Given the description of an element on the screen output the (x, y) to click on. 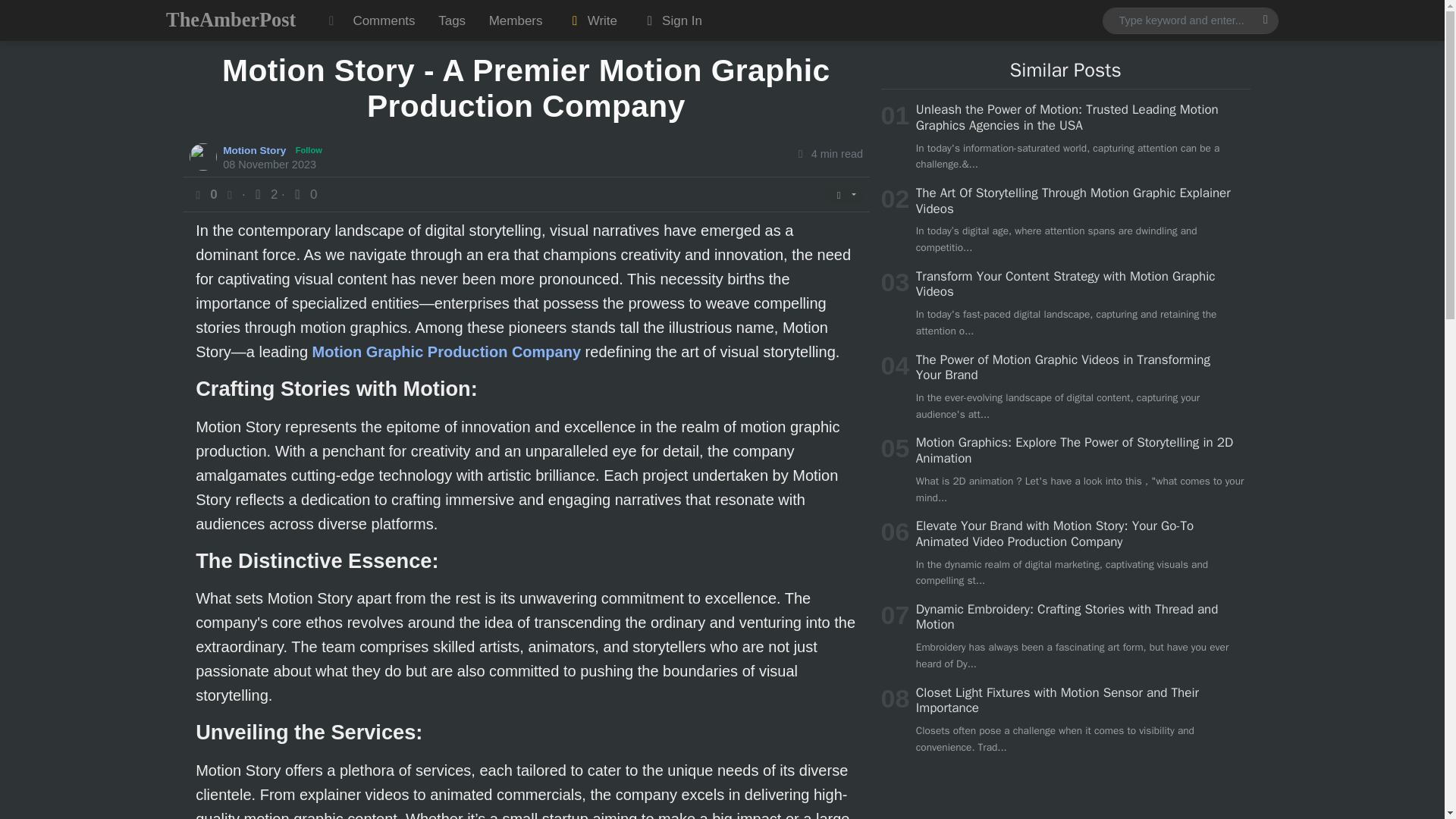
Motion Graphic Production Company (446, 351)
Comments (383, 20)
Members (515, 20)
Write (591, 20)
Transform Your Content Strategy with Motion Graphic Videos (1065, 283)
TheAmberPost (230, 20)
Dynamic Embroidery: Crafting Stories with Thread and Motion (1066, 616)
Views (264, 194)
Toggle dark mode (330, 20)
Sign In (670, 20)
